Given the description of an element on the screen output the (x, y) to click on. 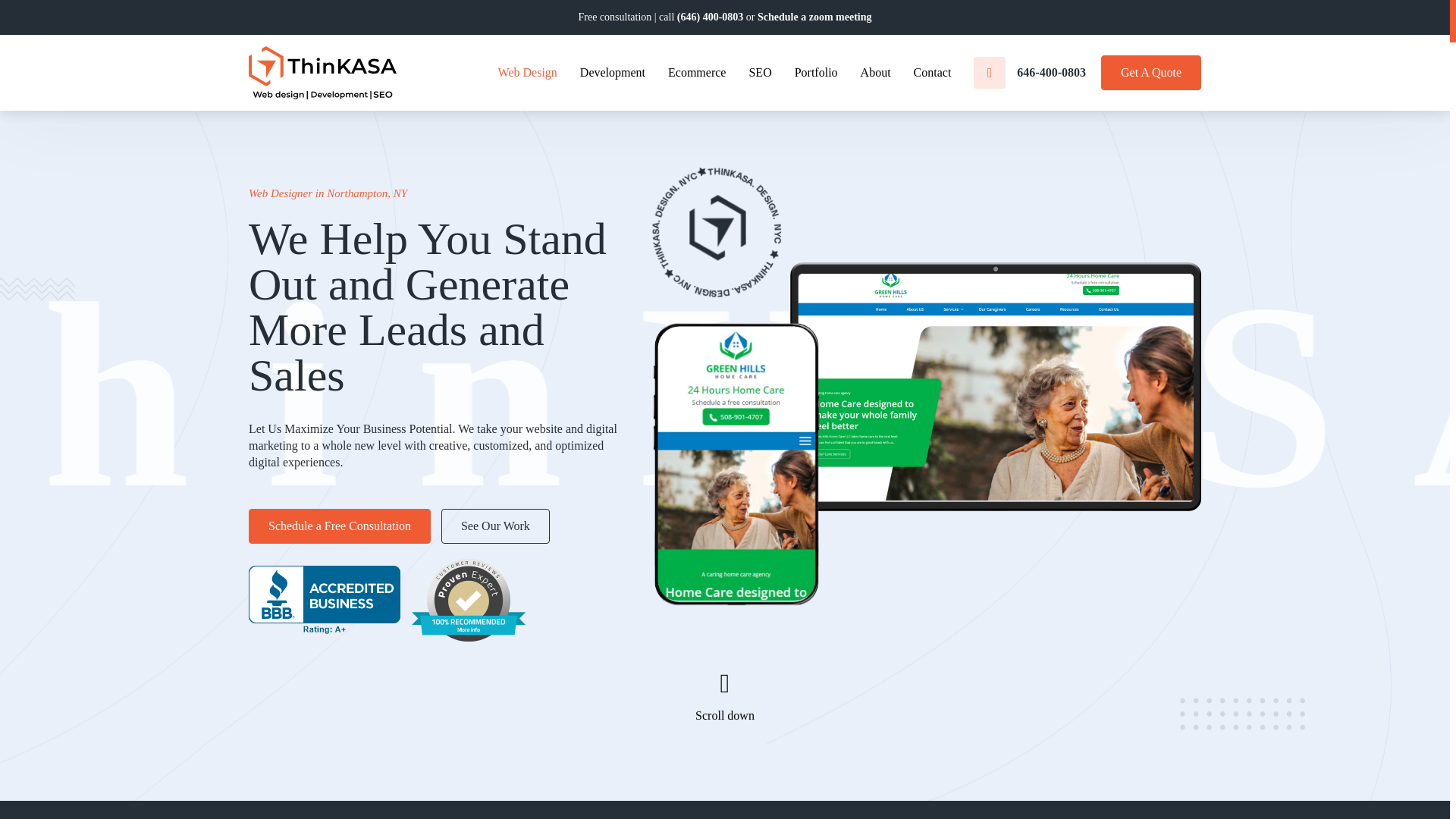
Scroll down (724, 690)
See Our Work (495, 525)
Scroll down (724, 691)
Schedule a Free Consultation (339, 525)
About (875, 72)
646-400-0803 (1030, 72)
Development (612, 72)
Schedule a zoom meeting (813, 16)
Portfolio (816, 72)
SEO (759, 72)
Ecommerce (696, 72)
Contact (933, 72)
Get A Quote (1150, 72)
Web Design (527, 72)
